Given the description of an element on the screen output the (x, y) to click on. 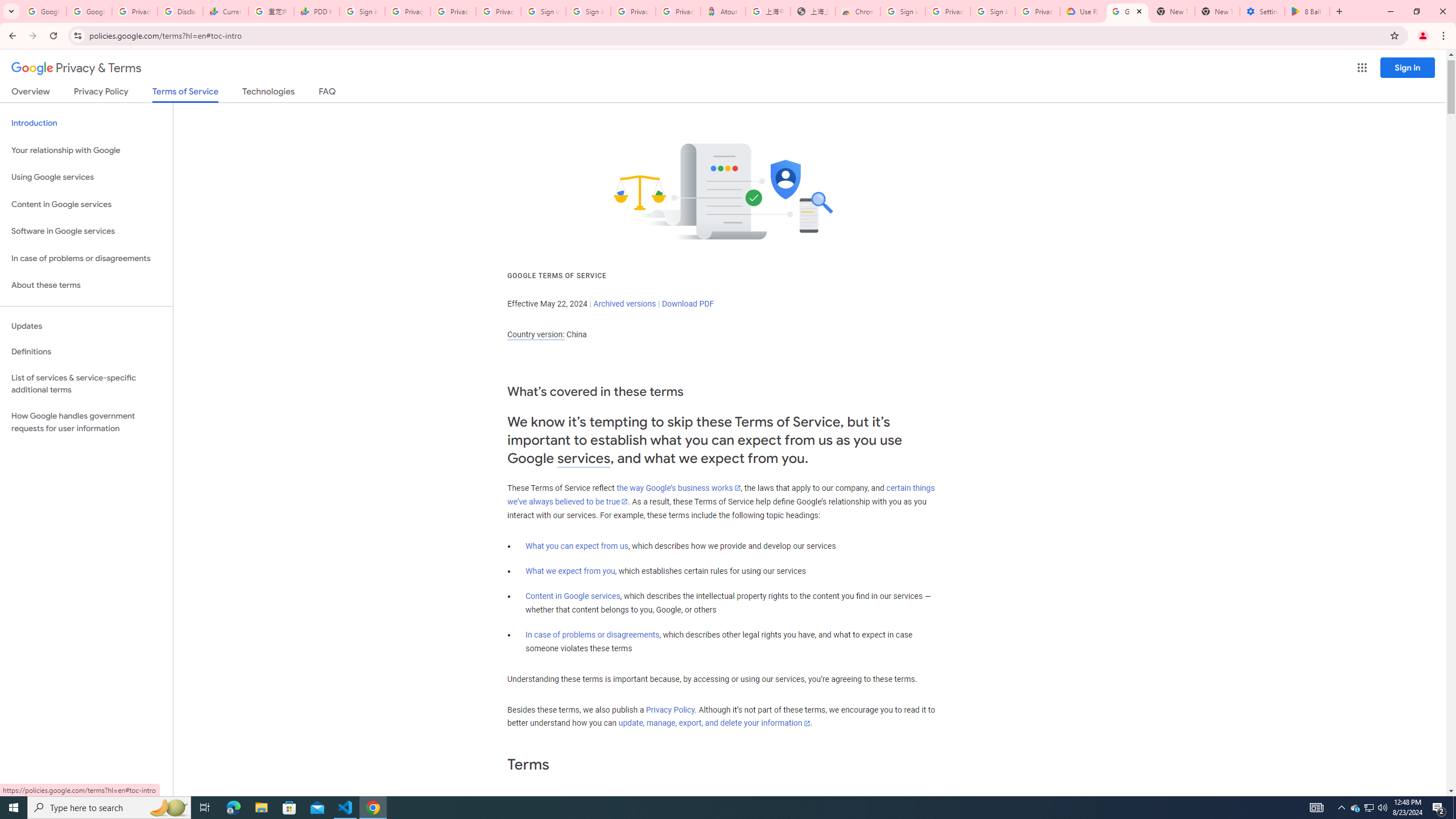
New Tab (1216, 11)
About these terms (86, 284)
Content in Google services (572, 596)
Country version: (535, 334)
8 Ball Pool - Apps on Google Play (1307, 11)
Download PDF (687, 303)
Sign in - Google Accounts (362, 11)
Definitions (86, 352)
